Given the description of an element on the screen output the (x, y) to click on. 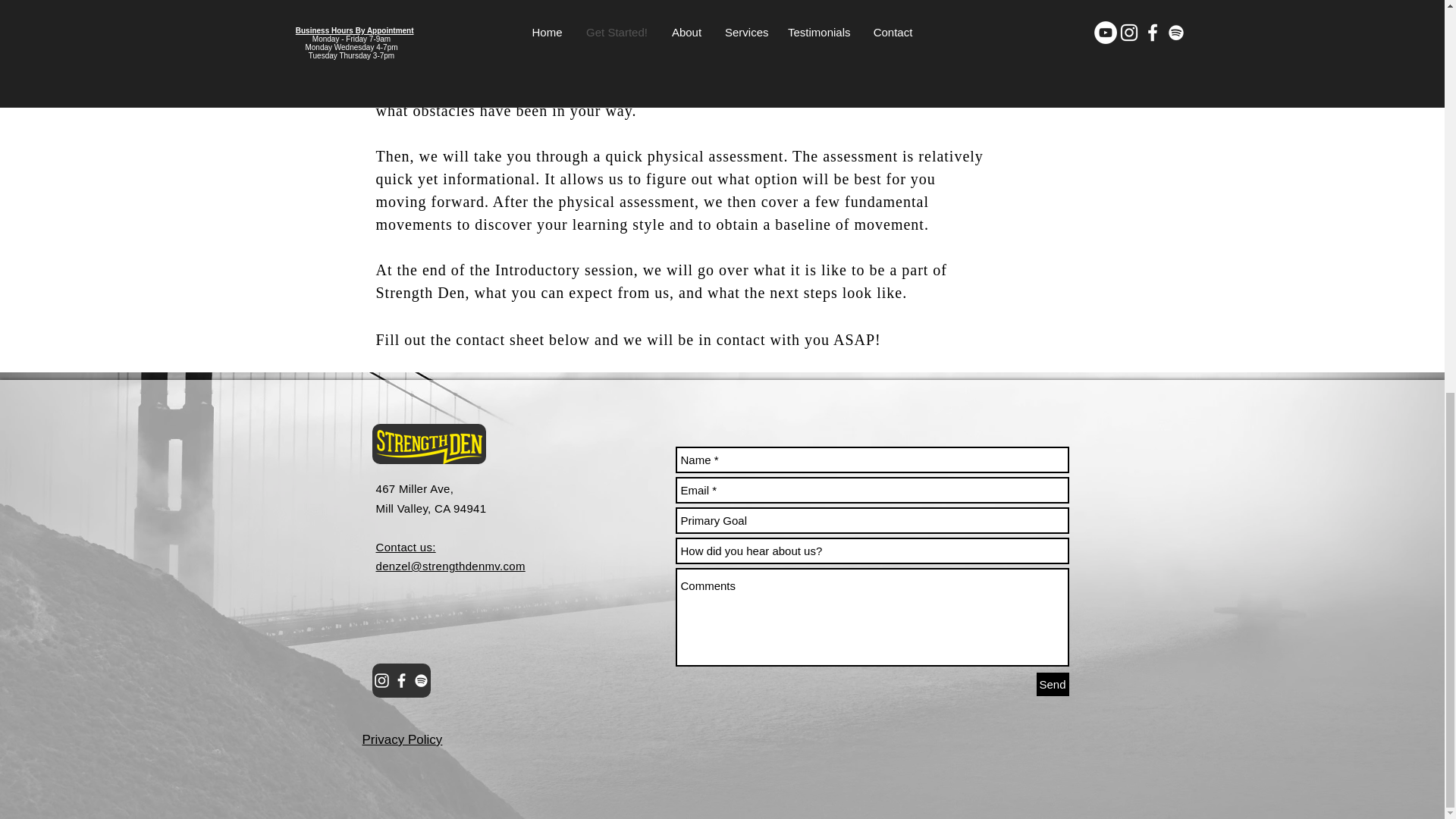
Privacy Policy (402, 739)
Send (1051, 684)
Contact us: (405, 545)
